Given the description of an element on the screen output the (x, y) to click on. 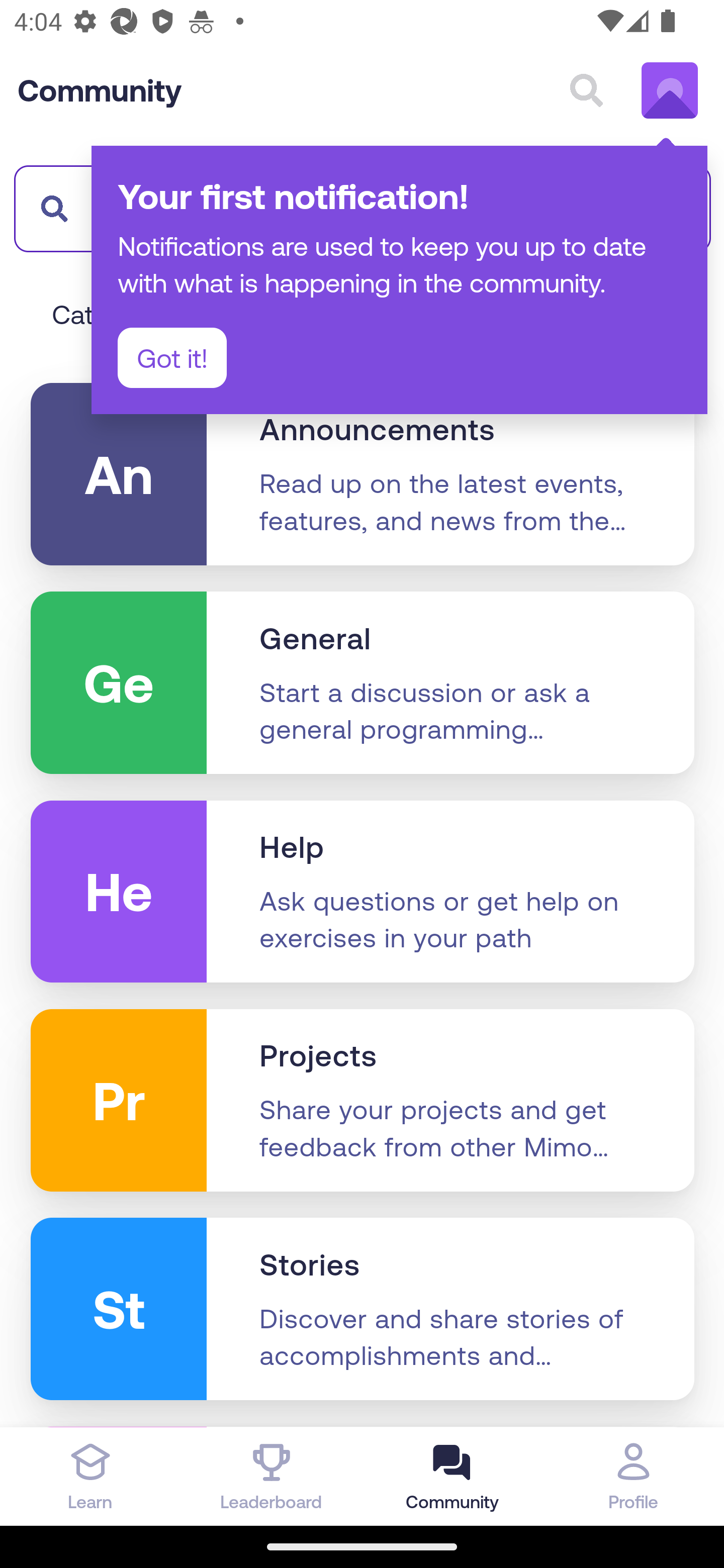
Search (586, 90)
Test Appium's account (669, 90)
Community (100, 90)
​ (48, 207)
Got it! (171, 357)
Announcements (376, 429)
General (315, 639)
Help (291, 847)
Projects (317, 1056)
Stories (309, 1265)
Learn (90, 1475)
Leaderboard (271, 1475)
Profile (633, 1475)
